Given the description of an element on the screen output the (x, y) to click on. 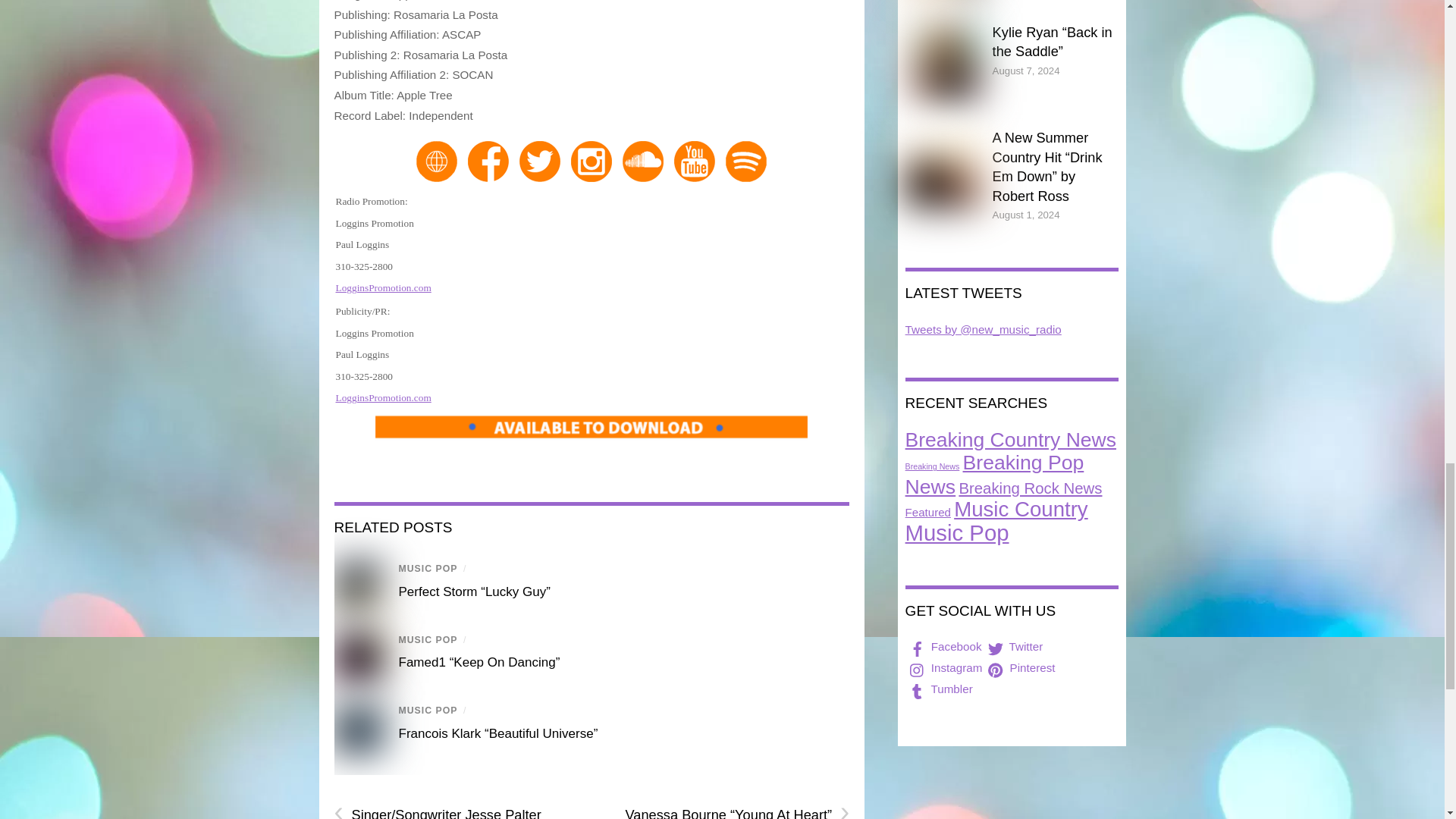
Famed1-Keep-On-Dancing-cover.jpg (357, 657)
Perfect-Storm-cover.jpg (357, 585)
Francois-Klark-Beautiful-Universe-Final-cover.jpg (357, 727)
